Given the description of an element on the screen output the (x, y) to click on. 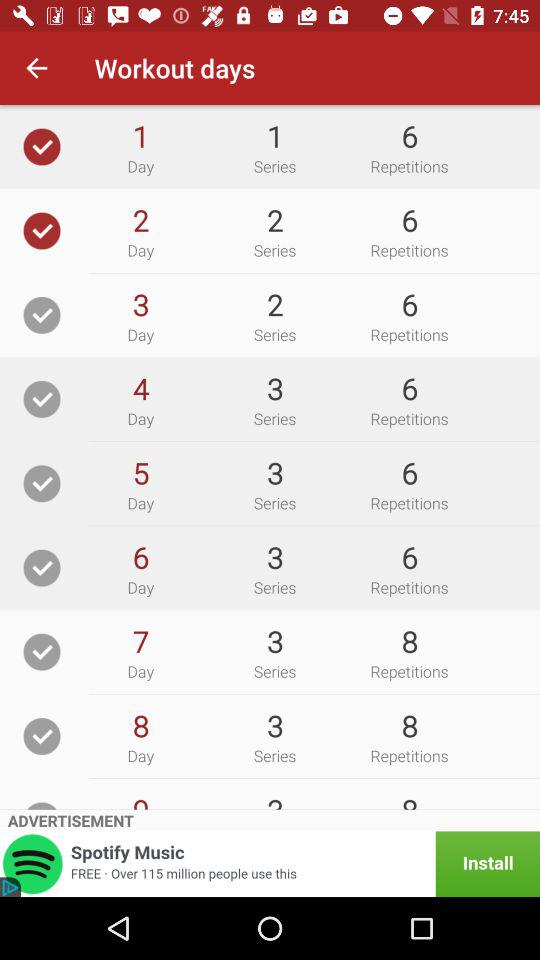
press the icon to the left of the workout days icon (36, 68)
